Given the description of an element on the screen output the (x, y) to click on. 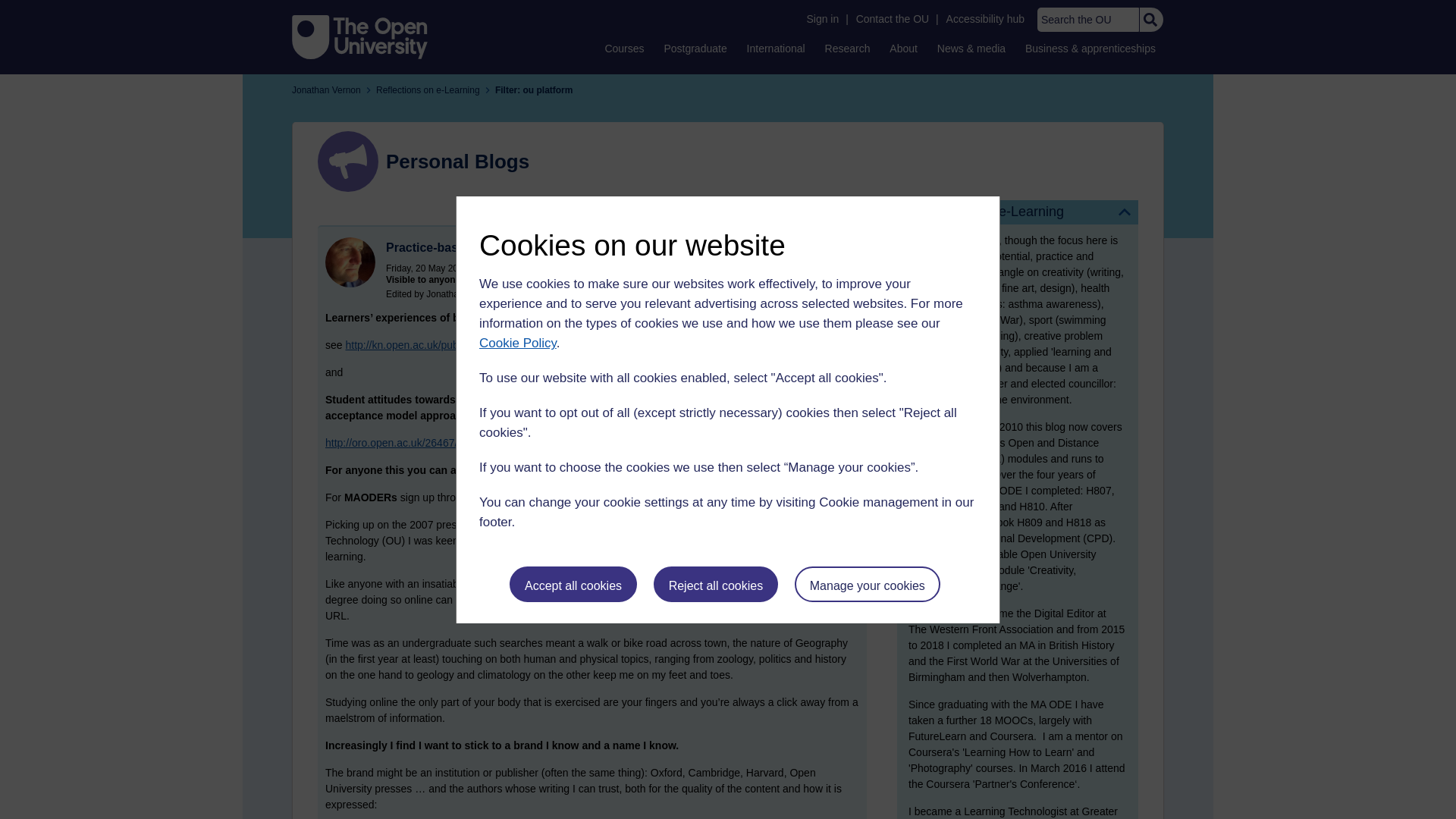
Search (1149, 19)
Accept all cookies (573, 583)
The Open University (360, 36)
Cookie Policy (517, 342)
About (903, 48)
International (775, 48)
Contact the OU (892, 19)
Reject all cookies (715, 583)
Search (1149, 19)
Research (847, 48)
